Given the description of an element on the screen output the (x, y) to click on. 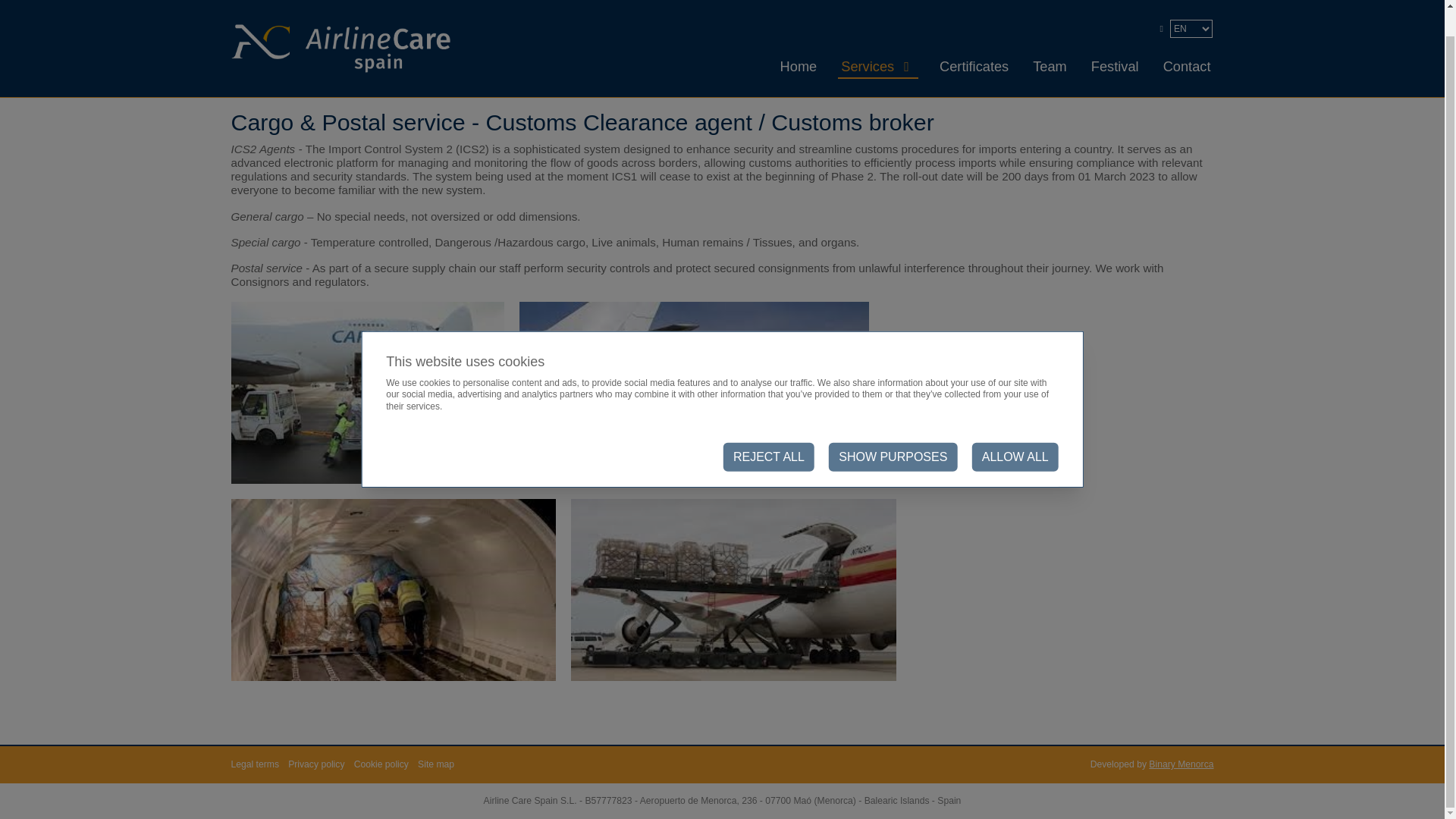
Services (867, 39)
images (733, 589)
cargo 2 (694, 393)
cargo (393, 589)
Home (798, 39)
SHOW PURPOSES (892, 430)
ALLOW ALL (1015, 430)
Home (243, 89)
Services (290, 89)
REJECT ALL (768, 430)
cargo 1 (366, 393)
